Given the description of an element on the screen output the (x, y) to click on. 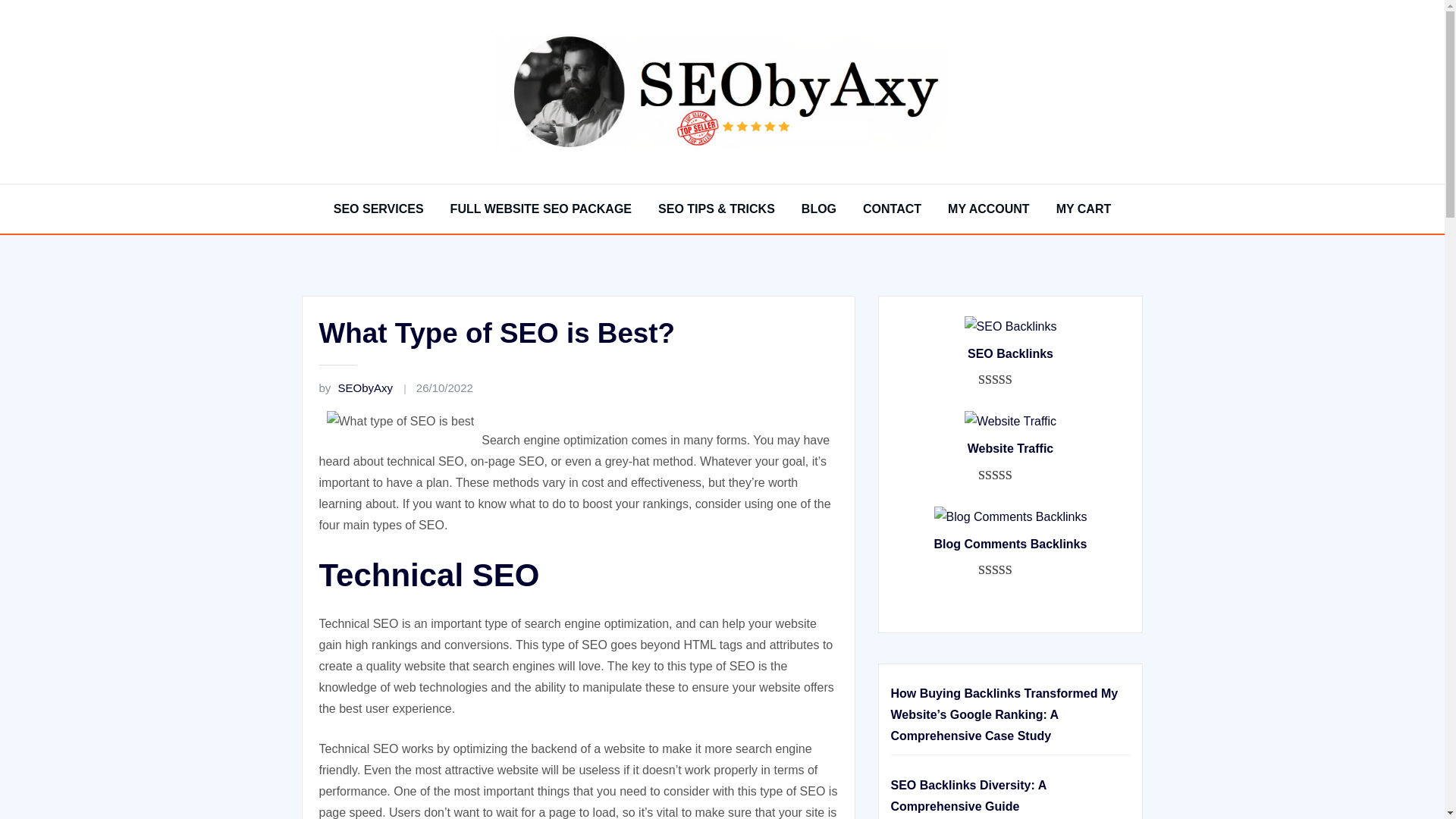
BLOG (818, 209)
CONTACT (892, 209)
by SEObyAxy (355, 387)
MY CART (1084, 209)
FULL WEBSITE SEO PACKAGE (540, 209)
MY ACCOUNT (988, 209)
SEO SERVICES (378, 209)
